Given the description of an element on the screen output the (x, y) to click on. 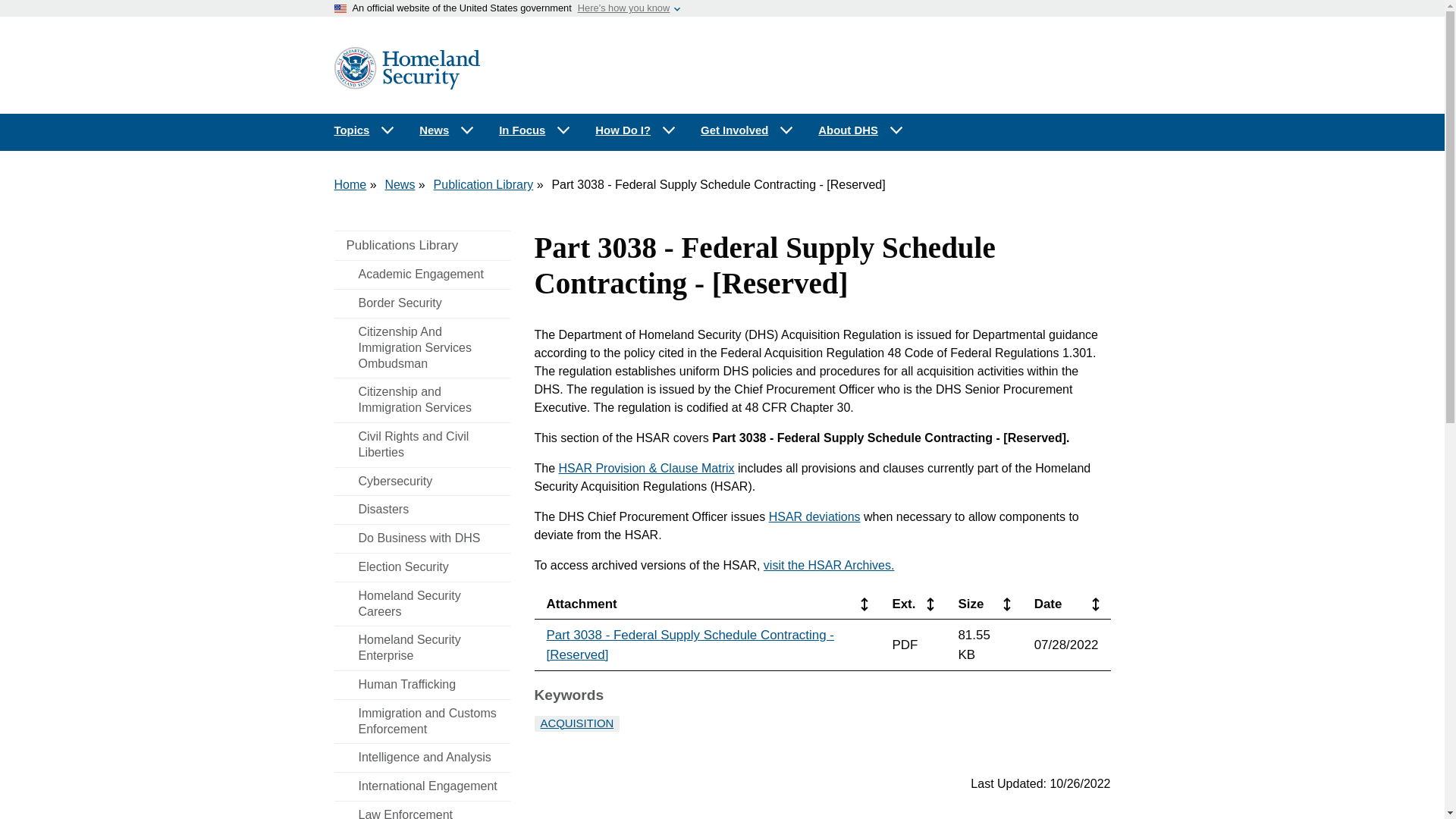
International Engagement (421, 786)
Law Enforcement (421, 810)
Click to sort by Attachment in ascending order. (863, 604)
Academic Engagement (421, 275)
Click to sort by Date in ascending order. (1094, 604)
Intelligence and Analysis (421, 757)
About DHS (860, 130)
Do Business with DHS (421, 538)
Get Involved (747, 130)
Topics (364, 130)
In Focus (534, 130)
Homeland Security Enterprise (421, 648)
Click to sort by Ext. in ascending order. (930, 604)
Cybersecurity (421, 481)
